Given the description of an element on the screen output the (x, y) to click on. 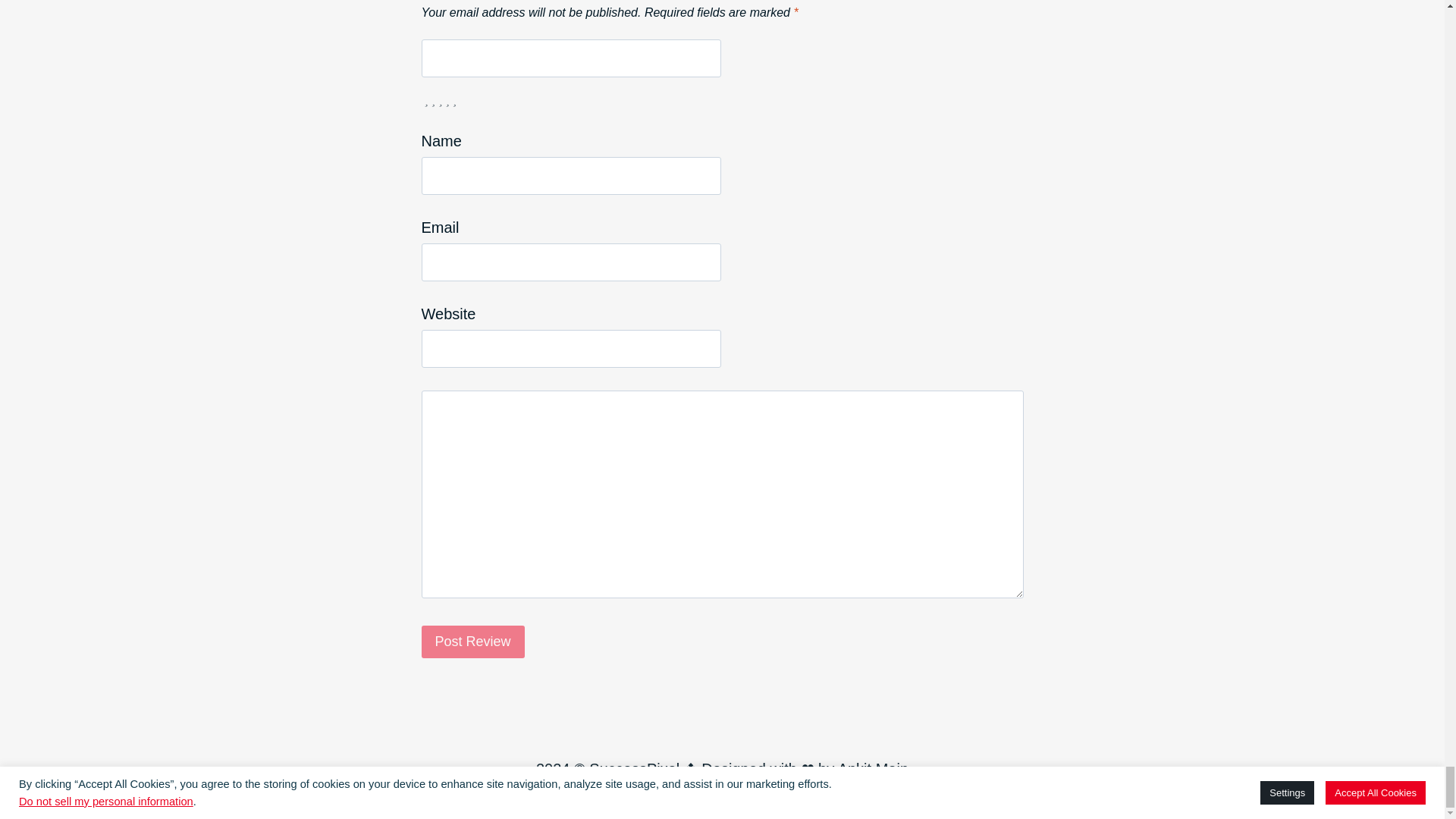
Post Review (473, 641)
